Given the description of an element on the screen output the (x, y) to click on. 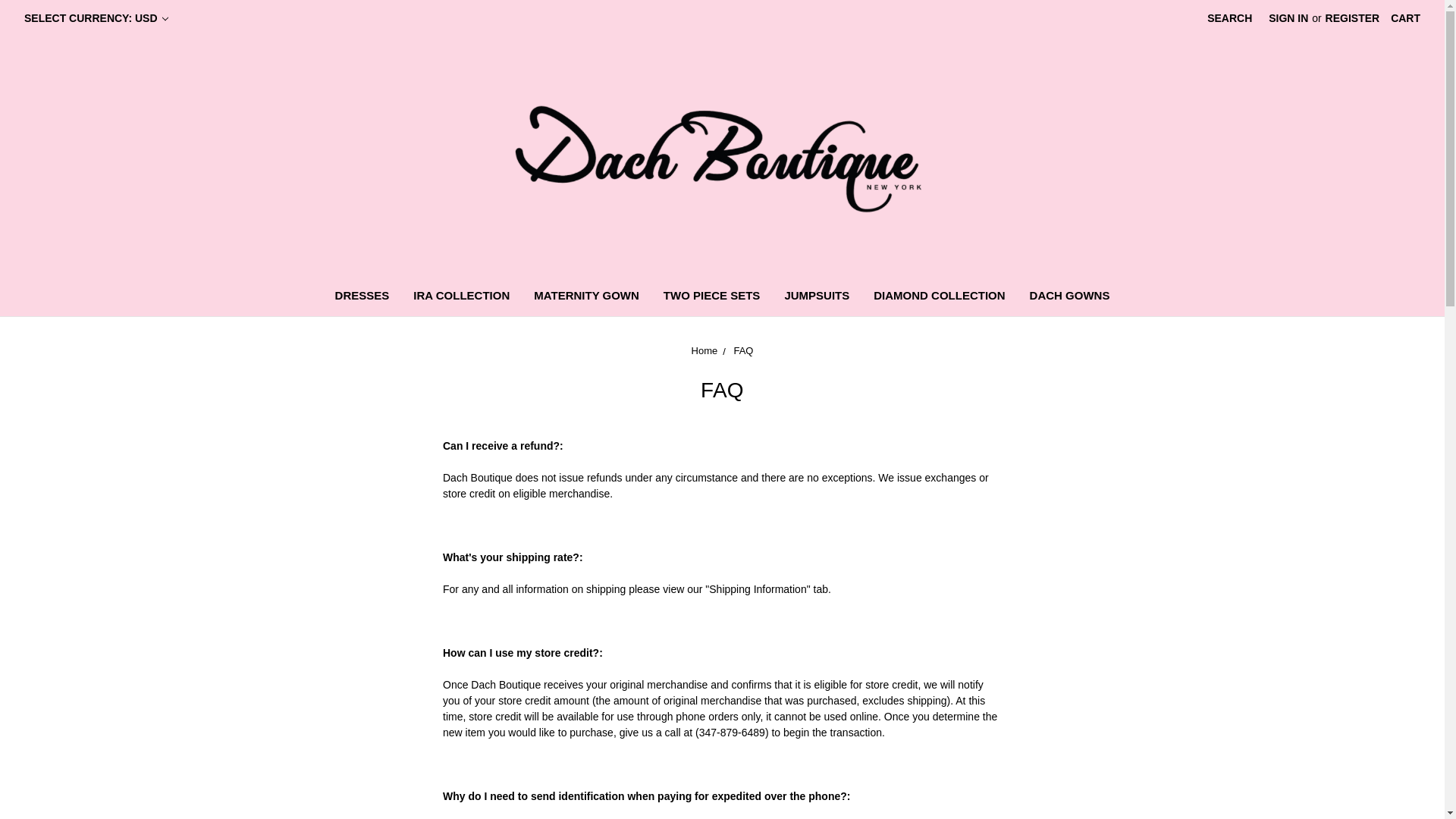
SEARCH (1229, 18)
MATERNITY GOWN (585, 297)
IRA COLLECTION (461, 297)
SIGN IN (1288, 18)
SELECT CURRENCY: USD (96, 18)
TWO PIECE SETS (711, 297)
DACH GOWNS (1069, 297)
REGISTER (1353, 18)
Home (704, 350)
Dach Boutique (722, 154)
